Given the description of an element on the screen output the (x, y) to click on. 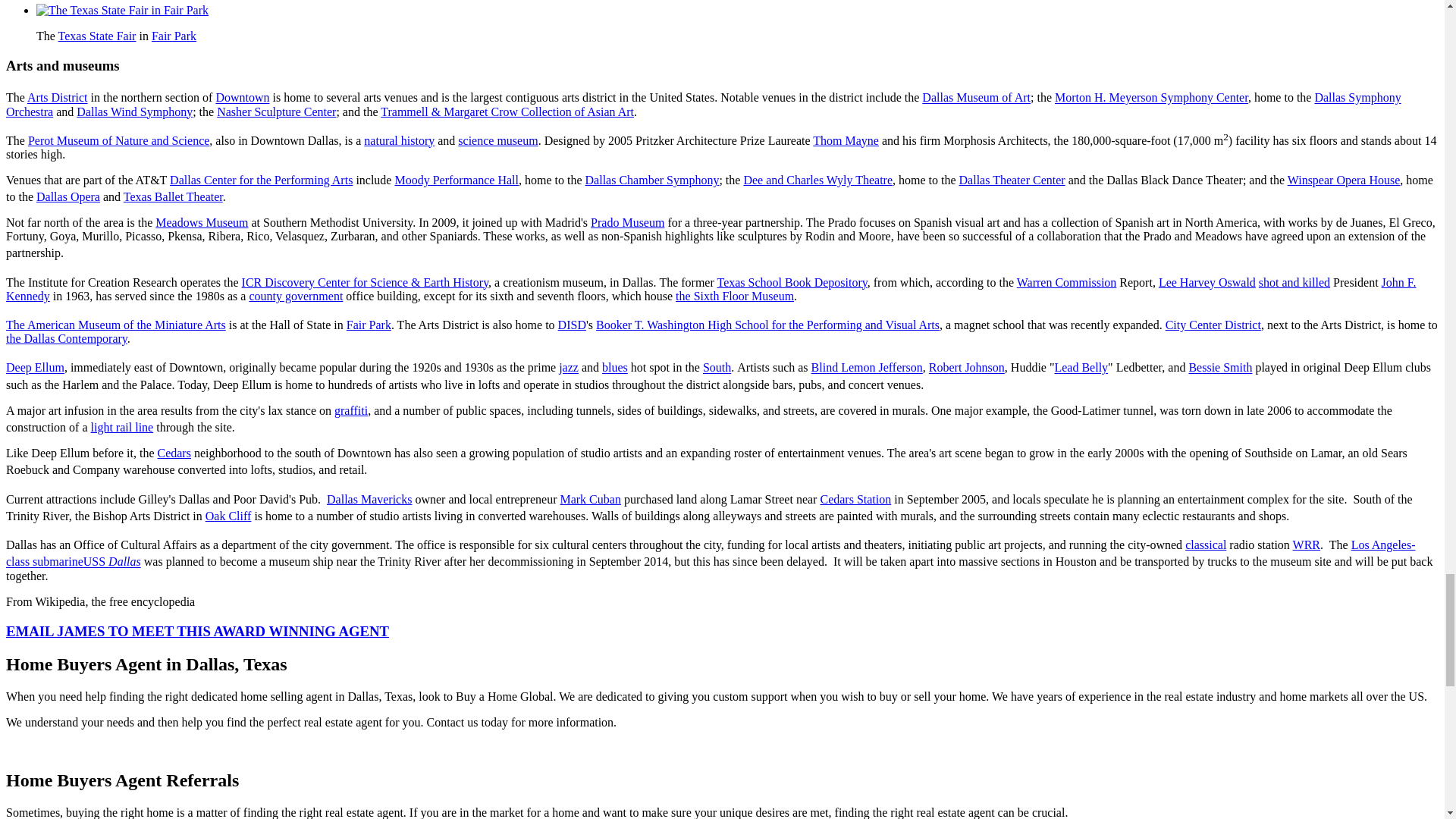
Arts District (57, 97)
Morton H. Meyerson Symphony Center (1150, 97)
Downtown (242, 97)
Dallas Museum of Art (975, 97)
Texas State Fair (97, 35)
Fair Park (173, 35)
Dallas Symphony Orchestra (702, 104)
